Given the description of an element on the screen output the (x, y) to click on. 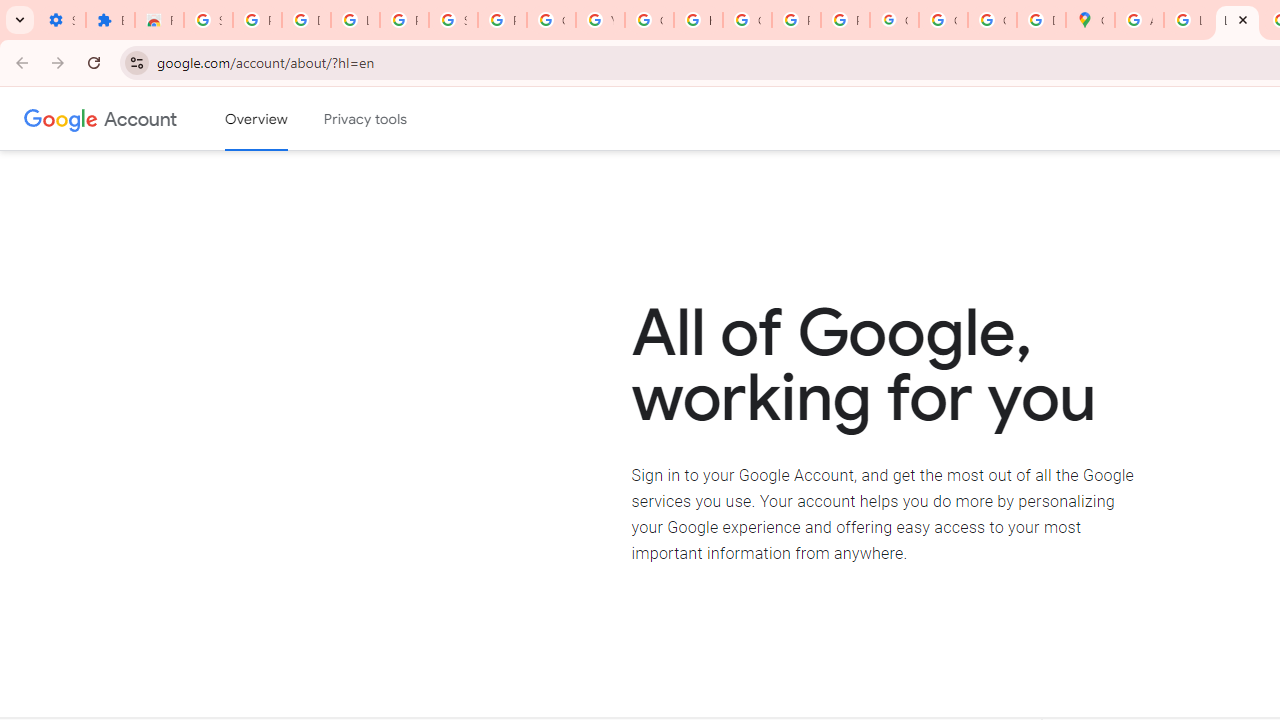
Delete photos & videos - Computer - Google Photos Help (306, 20)
Skip to Content (285, 115)
Google Account overview (256, 119)
Sign in - Google Accounts (452, 20)
Privacy tools (365, 119)
Google Maps (1090, 20)
